Given the description of an element on the screen output the (x, y) to click on. 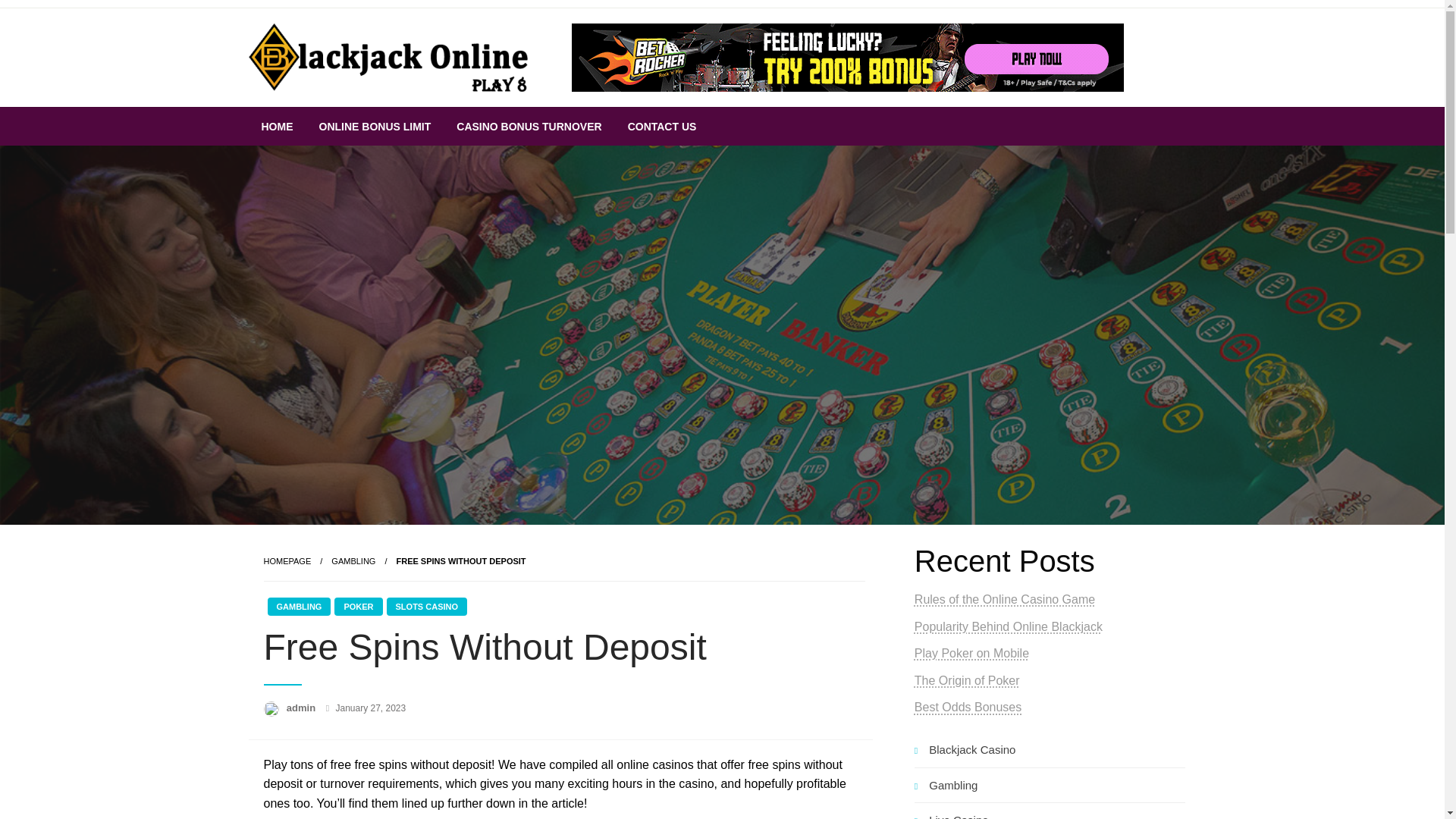
admin (302, 707)
Blackjack Online Play 8 (407, 118)
GAMBLING (353, 560)
Homepage (287, 560)
CONTACT US (662, 126)
admin (302, 707)
GAMBLING (298, 606)
CASINO BONUS TURNOVER (529, 126)
POKER (357, 606)
SLOTS CASINO (427, 606)
